Given the description of an element on the screen output the (x, y) to click on. 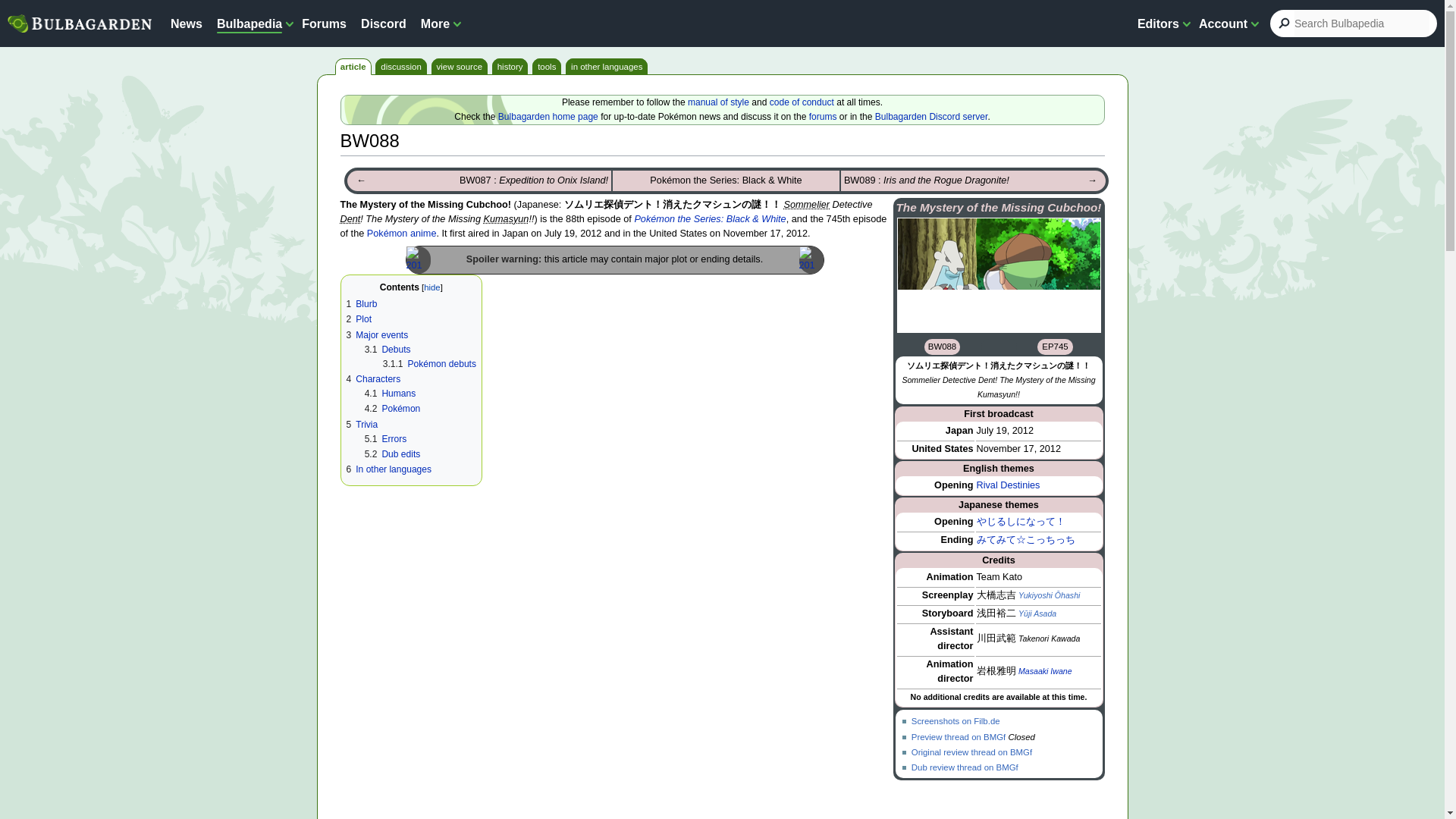
Masaaki Iwane (1044, 670)
List of English opening themes (953, 484)
BW089 (926, 180)
Bulbapedia:Manual of style (718, 102)
Be an Arrow! (1020, 521)
BW089 (1092, 180)
List of Japanese ending themes (956, 539)
List of Japanese opening themes (953, 521)
BW087 (361, 180)
BW087 (534, 180)
Bulbapedia (249, 22)
Bulbapedia:Code of conduct (802, 102)
